Given the description of an element on the screen output the (x, y) to click on. 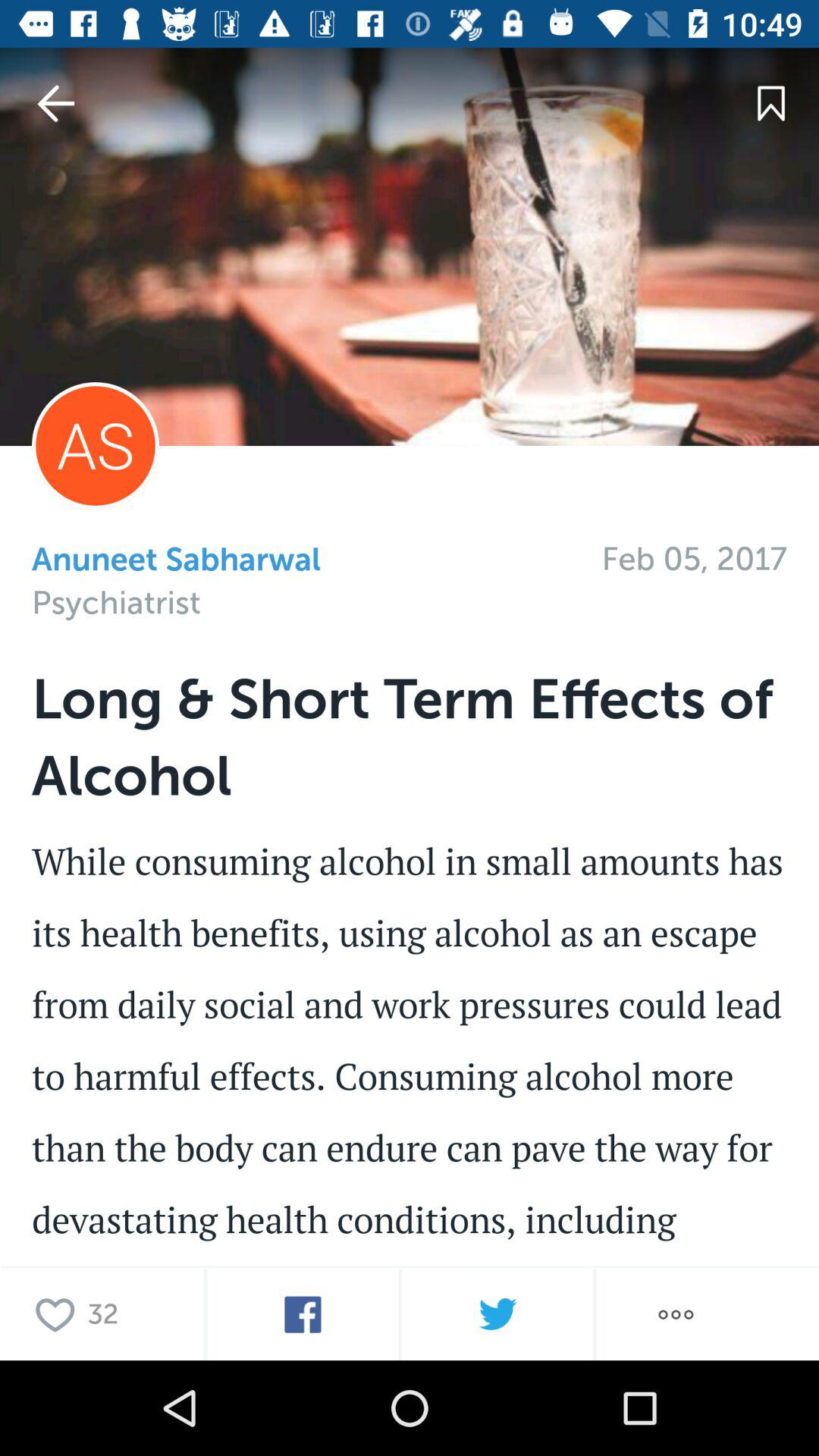
click for social media platform of choice (409, 1093)
